Given the description of an element on the screen output the (x, y) to click on. 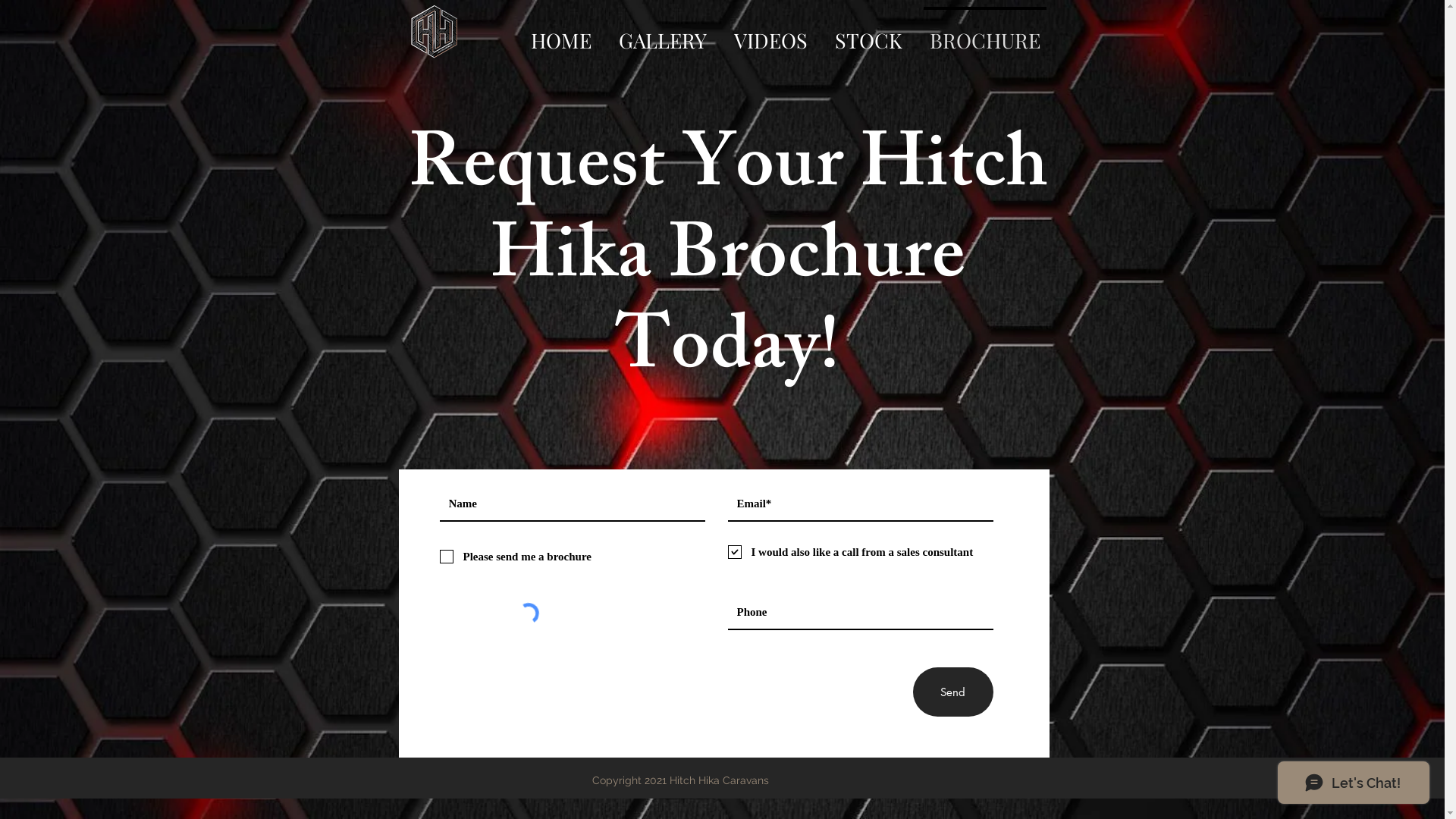
STOCK Element type: text (868, 33)
GALLERY Element type: text (662, 33)
HOME Element type: text (561, 33)
BROCHURE Element type: text (985, 33)
VIDEOS Element type: text (770, 33)
Send Element type: text (953, 691)
